Given the description of an element on the screen output the (x, y) to click on. 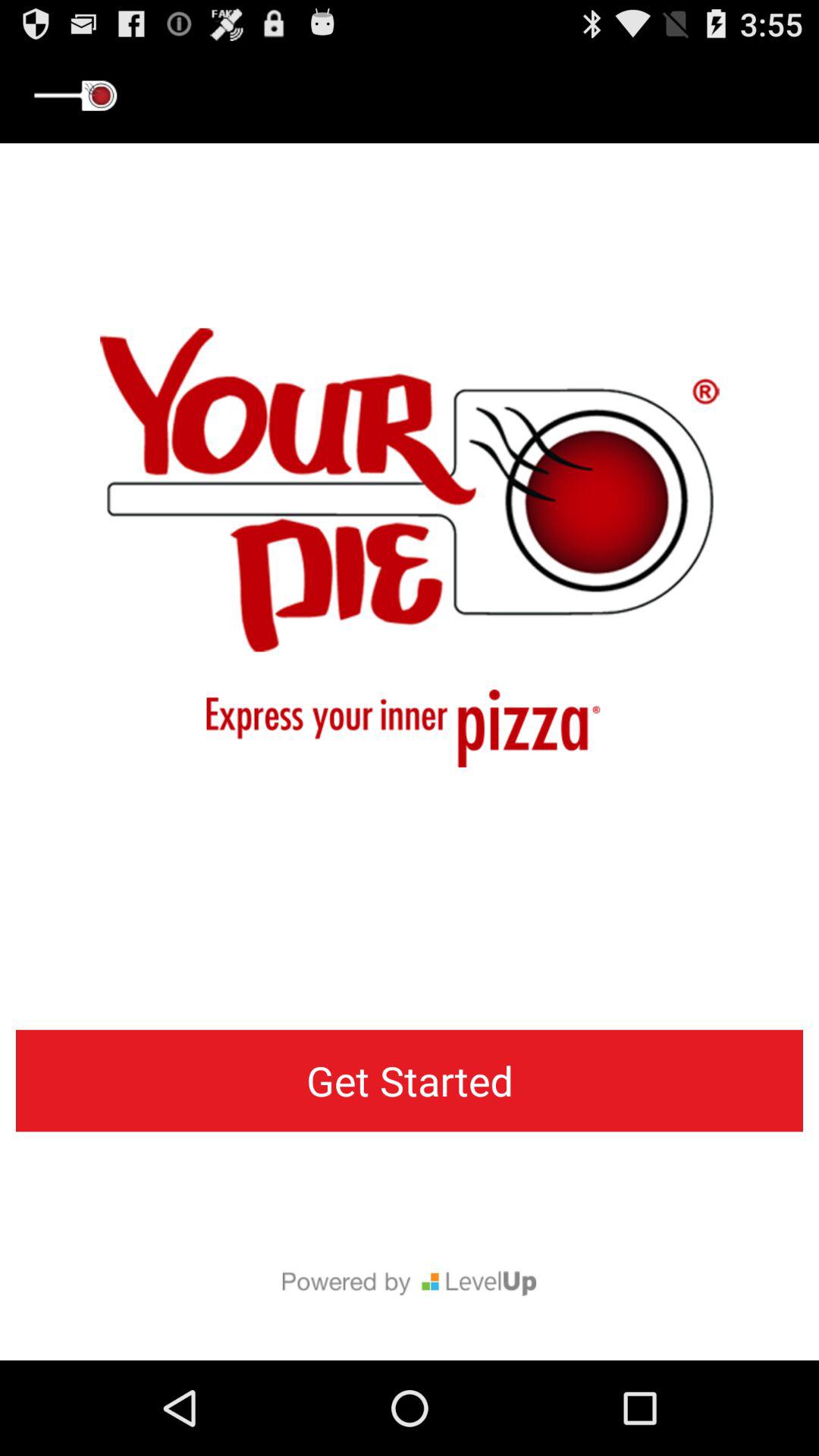
choose get started button (409, 1080)
